Given the description of an element on the screen output the (x, y) to click on. 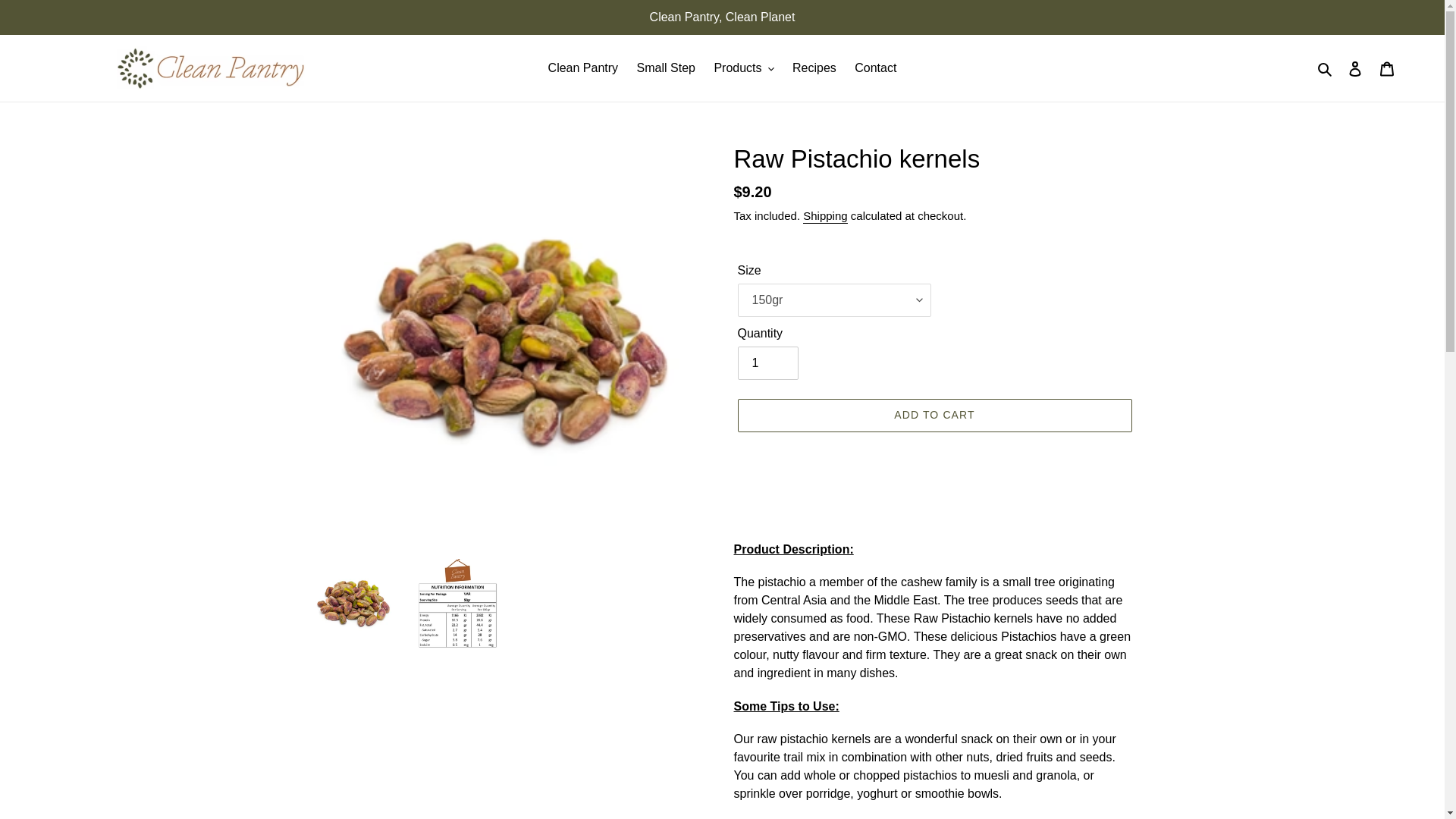
Clean Pantry (583, 67)
Search (1326, 67)
Contact (875, 67)
1 (766, 363)
Recipes (814, 67)
Log in (1355, 68)
Cart (1387, 68)
Products (743, 67)
Small Step (665, 67)
